Given the description of an element on the screen output the (x, y) to click on. 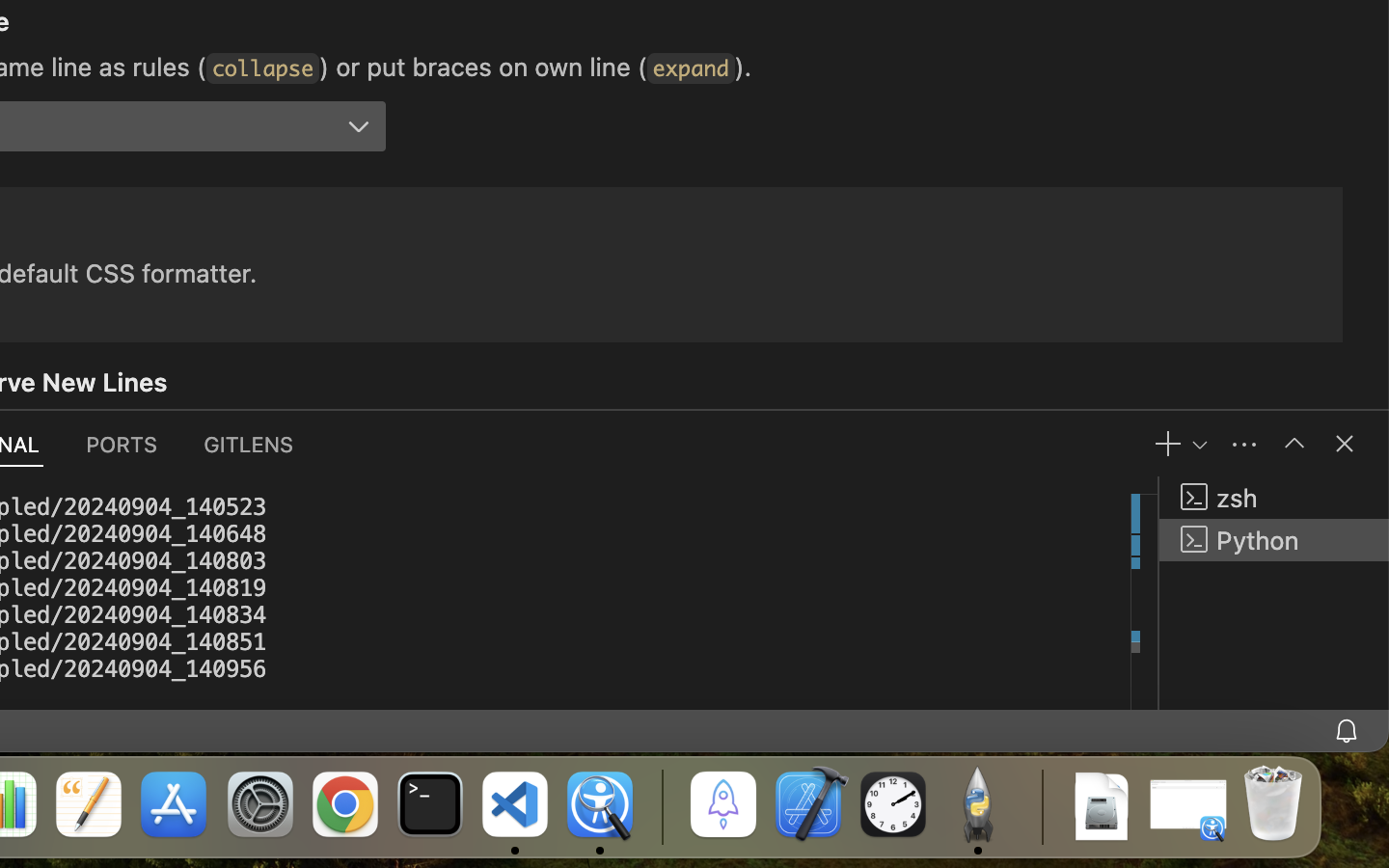
zsh  Element type: AXGroup (1274, 497)
 Element type: AXStaticText (358, 126)
 Element type: AXButton (1344, 443)
0 PORTS Element type: AXRadioButton (122, 443)
Python  Element type: AXGroup (1274, 539)
